Given the description of an element on the screen output the (x, y) to click on. 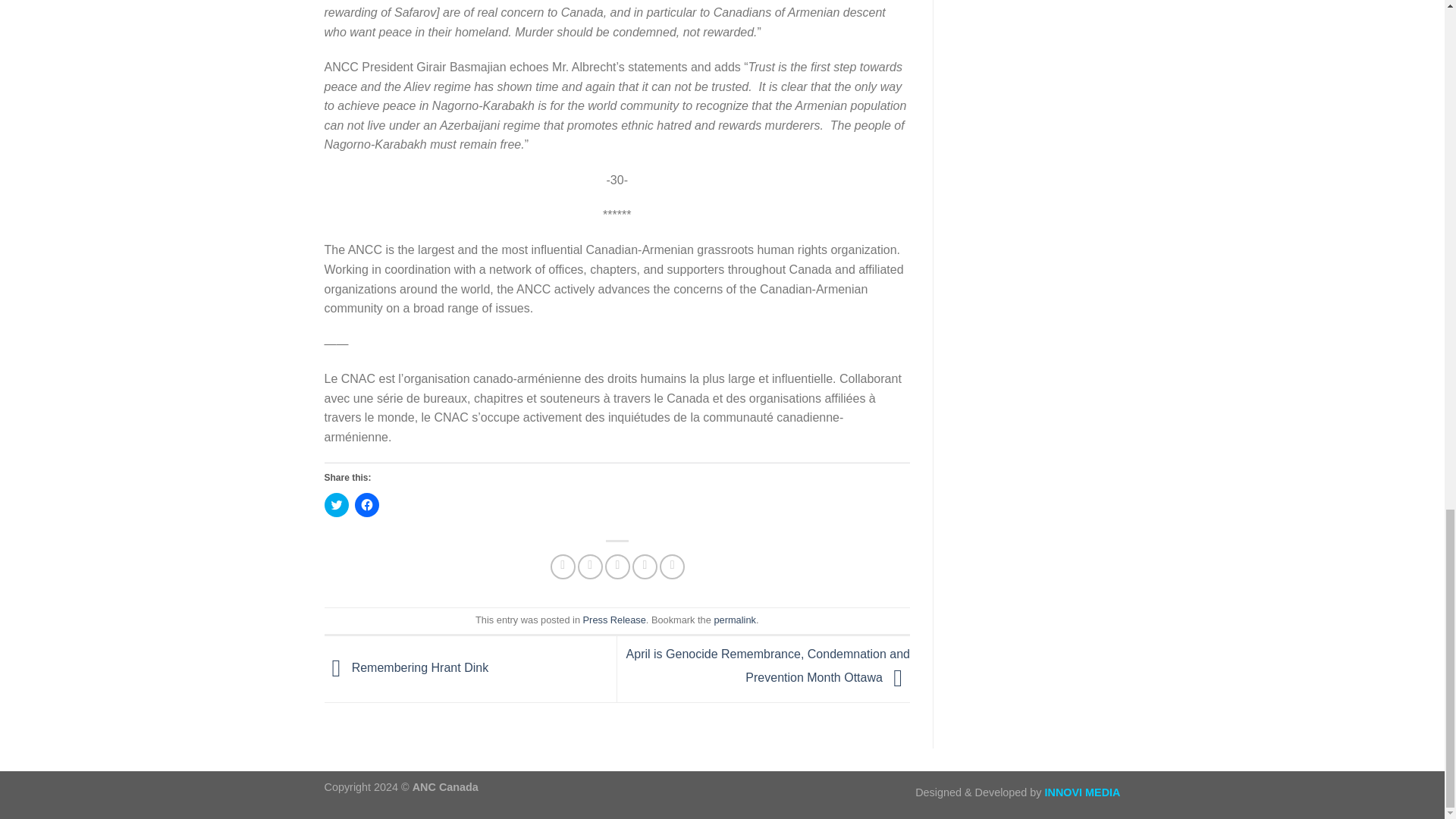
Share on Facebook (562, 566)
Click to share on Twitter (336, 504)
Click to share on Facebook (366, 504)
